Given the description of an element on the screen output the (x, y) to click on. 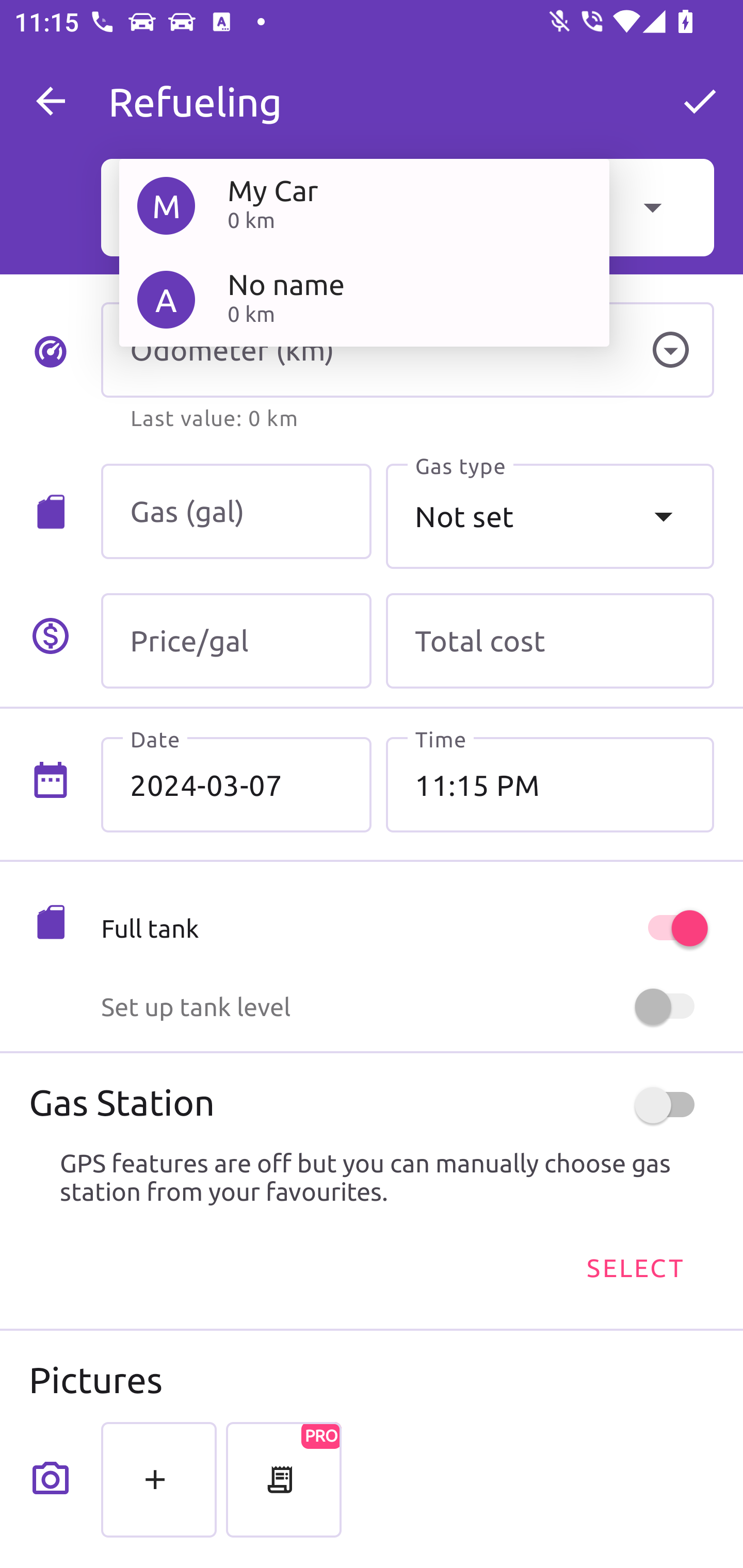
M My Car 0 km (363, 205)
A No name 0 km (363, 299)
